Given the description of an element on the screen output the (x, y) to click on. 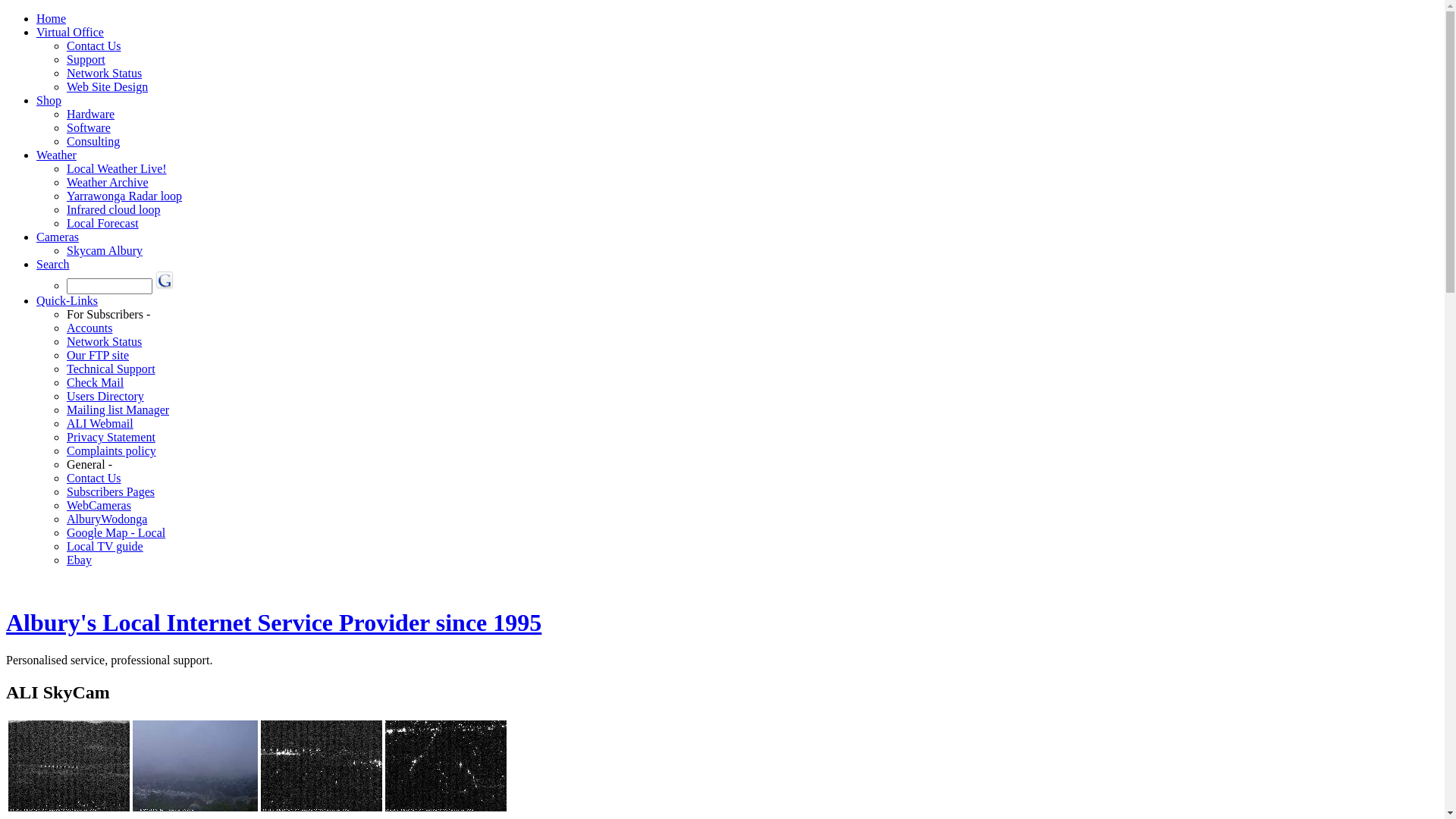
Ebay Element type: text (78, 559)
Cameras Element type: text (57, 236)
Support Element type: text (85, 59)
Privacy Statement Element type: text (110, 436)
Local Weather Live! Element type: text (116, 168)
Search Element type: text (52, 263)
WebCameras Element type: text (98, 504)
Accounts Element type: text (89, 327)
Network Status Element type: text (103, 341)
Software Element type: text (88, 127)
AlburyWodonga Element type: text (106, 518)
Google Map - Local Element type: text (115, 532)
ALI Webmail Element type: text (99, 423)
Skycam Albury Element type: text (104, 250)
Infrared cloud loop Element type: text (113, 209)
Mailing list Manager Element type: text (117, 409)
Network Status Element type: text (103, 72)
Technical Support Element type: text (110, 368)
Weather Archive Element type: text (107, 181)
Subscribers Pages Element type: text (110, 491)
Our FTP site Element type: text (97, 354)
Quick-Links Element type: text (66, 300)
Shop Element type: text (48, 100)
Web Site Design Element type: text (106, 86)
Consulting Element type: text (92, 140)
Weather Element type: text (56, 154)
Home Element type: text (50, 18)
Contact Us Element type: text (93, 45)
Users Directory Element type: text (105, 395)
Contact Us Element type: text (93, 477)
Virtual Office Element type: text (69, 31)
Check Mail Element type: text (94, 382)
Hardware Element type: text (90, 113)
Local Forecast Element type: text (102, 222)
Local TV guide Element type: text (104, 545)
Complaints policy Element type: text (111, 450)
Yarrawonga Radar loop Element type: text (124, 195)
Albury's Local Internet Service Provider since 1995 Element type: text (273, 622)
